Given the description of an element on the screen output the (x, y) to click on. 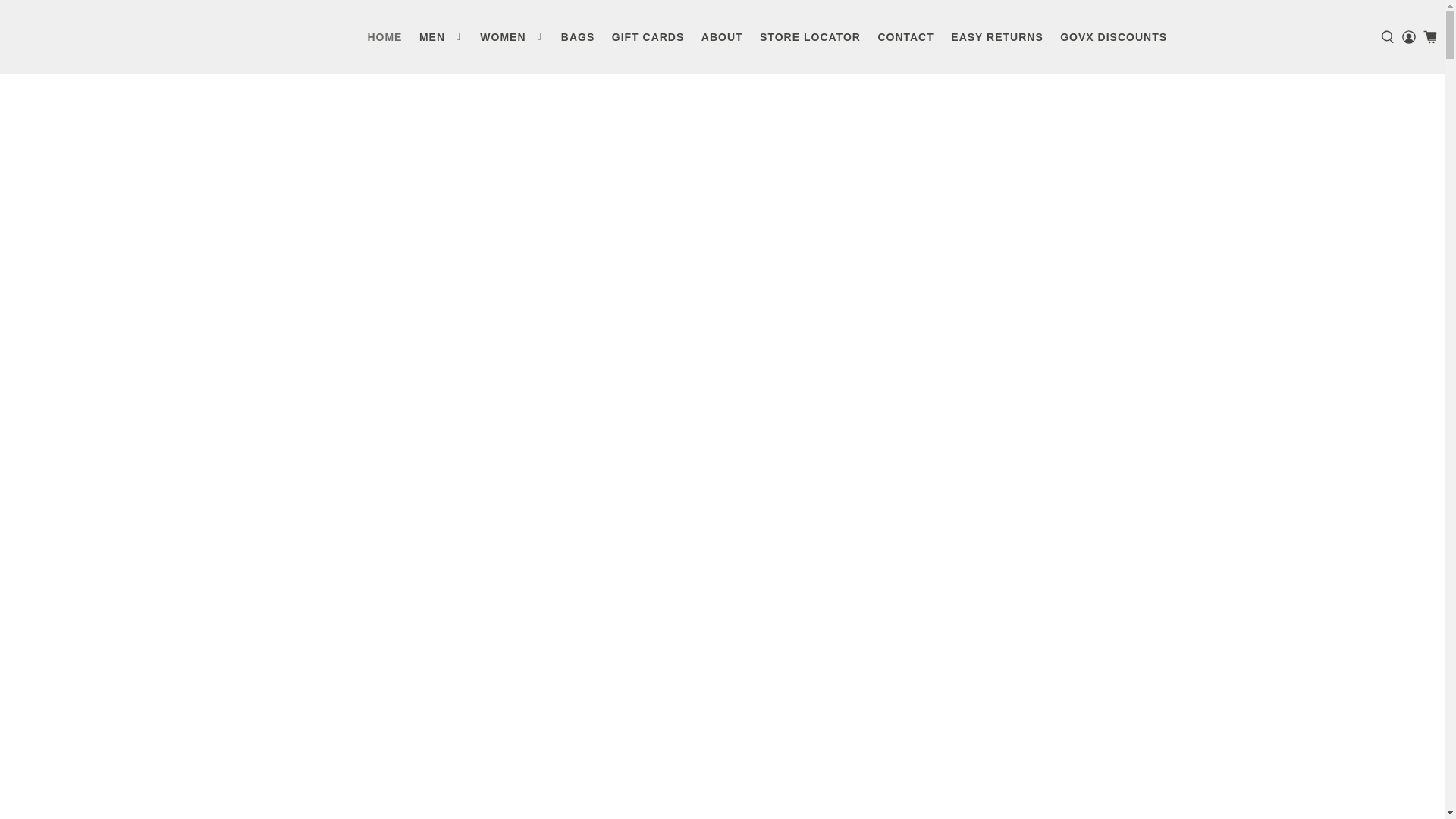
STORE LOCATOR (810, 37)
EASY RETURNS (996, 37)
WOMEN (511, 37)
Madison Creek Outfitters (82, 37)
GIFT CARDS (648, 37)
ABOUT (722, 37)
CONTACT (905, 37)
HOME (384, 37)
MEN (440, 37)
BAGS (578, 37)
